Given the description of an element on the screen output the (x, y) to click on. 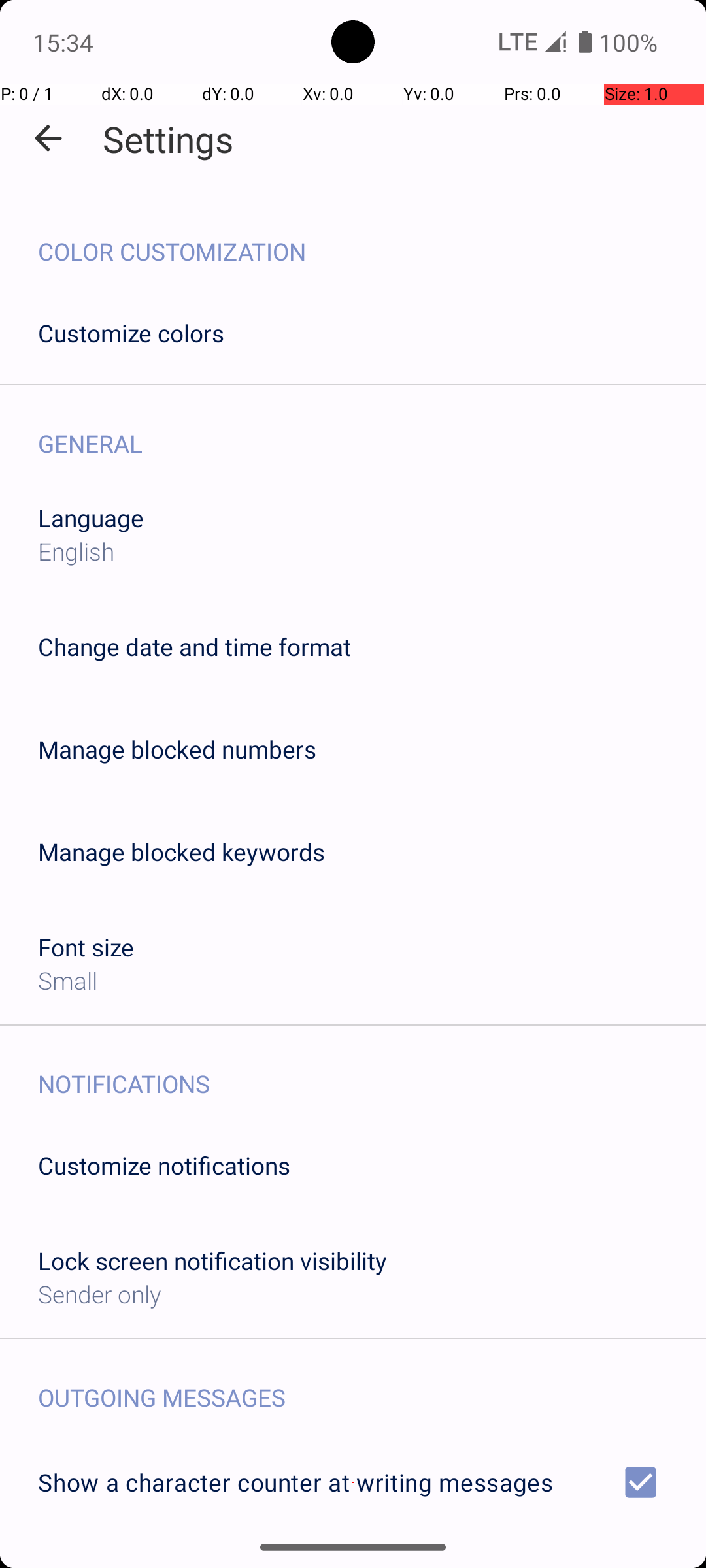
NOTIFICATIONS Element type: android.widget.TextView (371, 1069)
OUTGOING MESSAGES Element type: android.widget.TextView (371, 1383)
Font size Element type: android.widget.TextView (85, 946)
Small Element type: android.widget.TextView (67, 979)
Lock screen notification visibility Element type: android.widget.TextView (211, 1260)
Sender only Element type: android.widget.TextView (99, 1293)
Show a character counter at writing messages Element type: android.widget.CheckBox (352, 1482)
Remove accents and diacritics at sending messages Element type: android.widget.CheckBox (352, 1559)
